Given the description of an element on the screen output the (x, y) to click on. 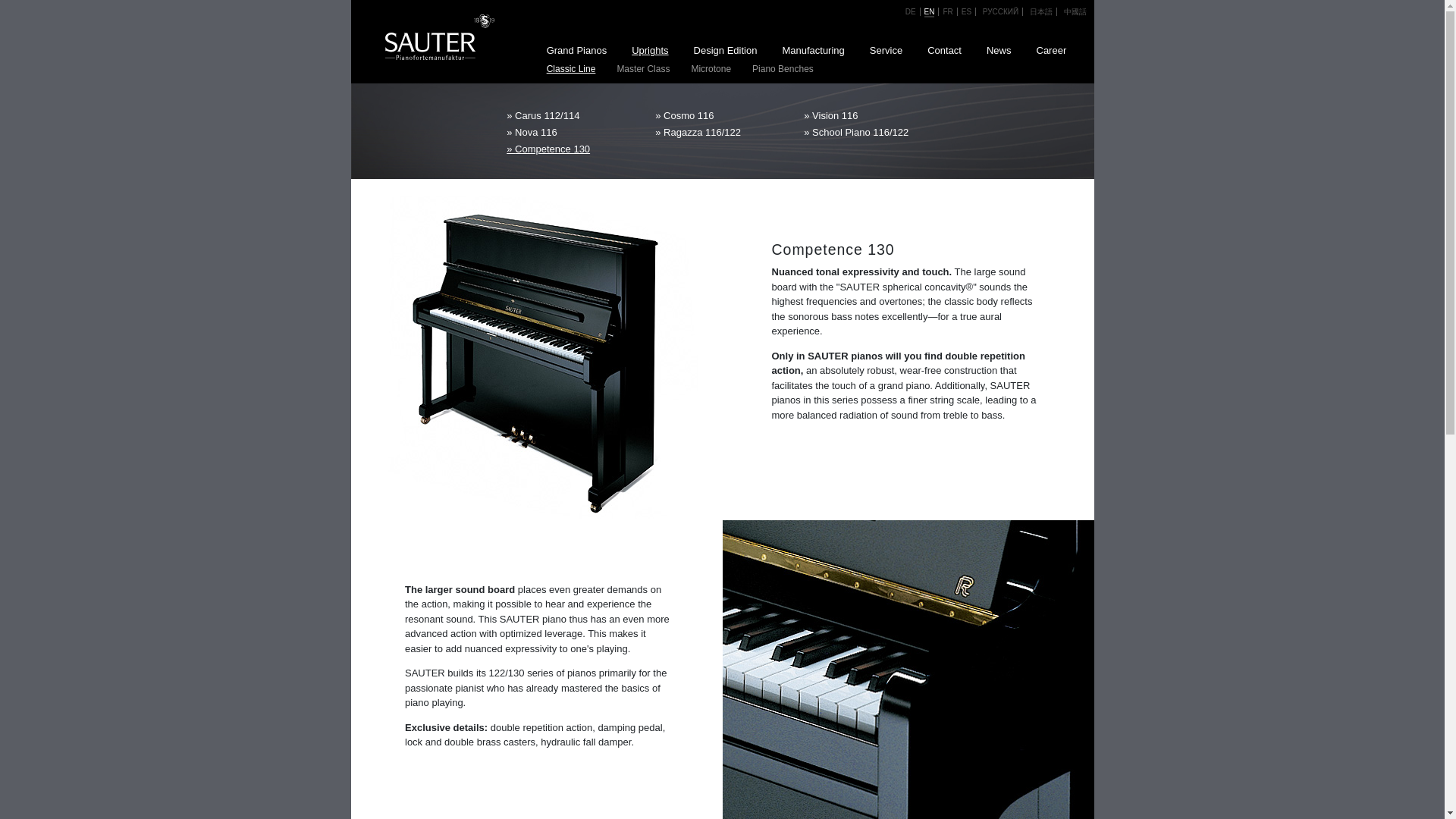
ES (965, 11)
Cosmo 116 (722, 114)
Microtone (710, 68)
Career (1050, 50)
Grand Pianos (576, 50)
Manufacturing (812, 50)
EN (929, 12)
Classic Line (570, 68)
Home (426, 35)
DE (910, 11)
